Given the description of an element on the screen output the (x, y) to click on. 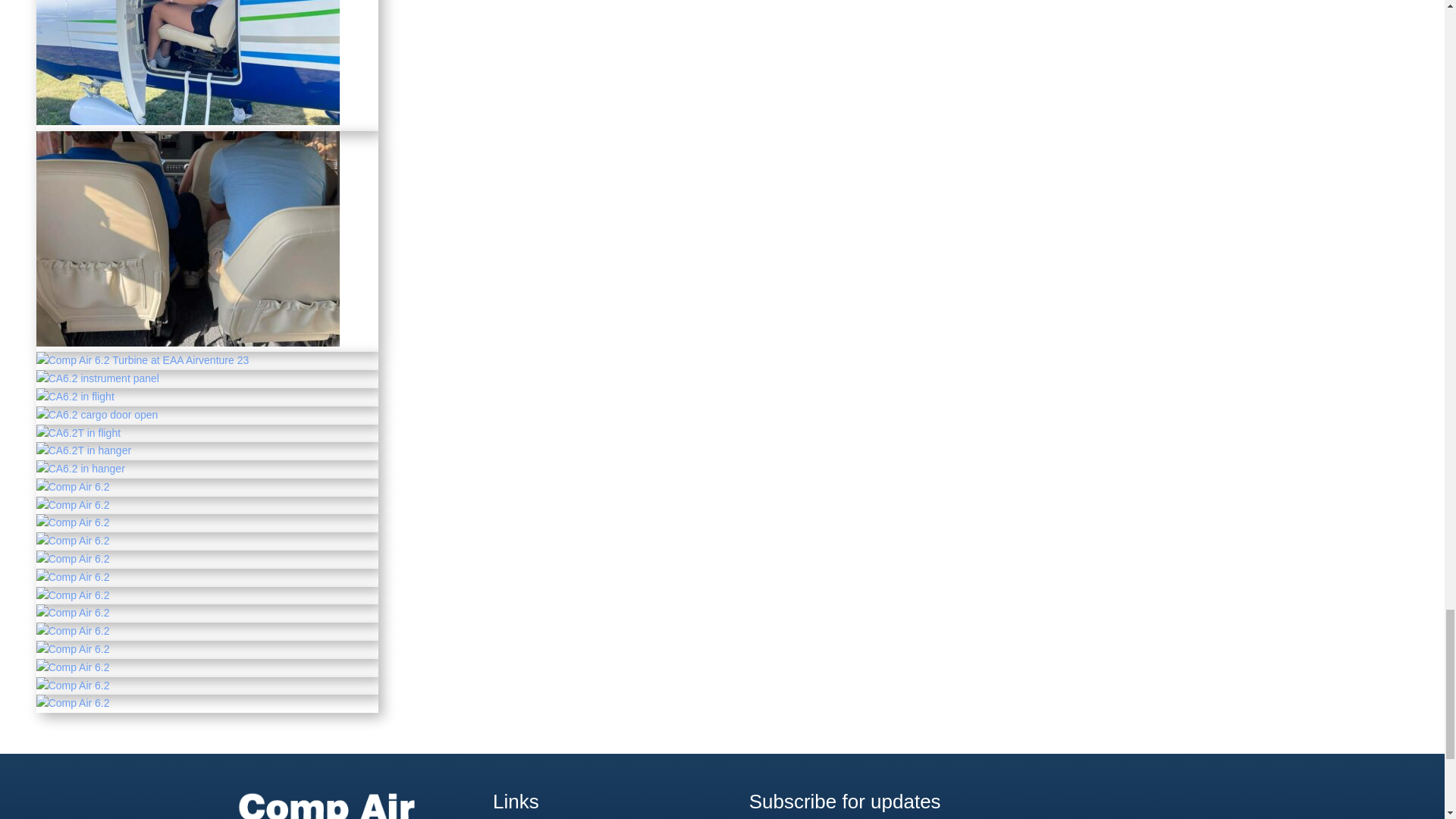
CA6-2 inside-1000 (187, 342)
Comp Air 6.2 in Flight (75, 396)
CA6 Tubine Cargo door-1 (97, 414)
